Given the description of an element on the screen output the (x, y) to click on. 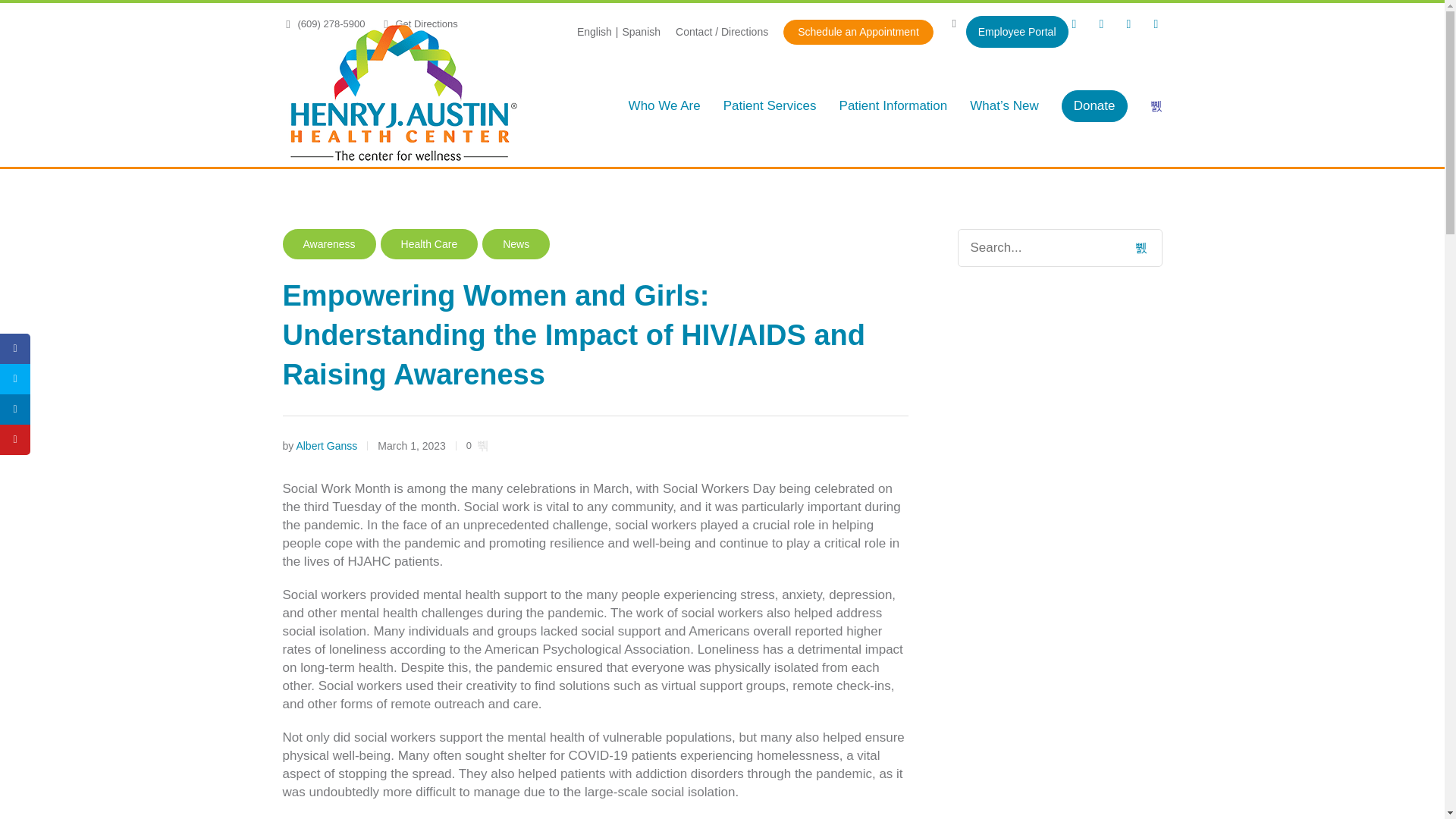
Henry J. Austin Health Center (403, 95)
Schedule an Appointment (858, 31)
Who We Are (664, 106)
Get Directions (418, 23)
English (593, 31)
Patient Services (769, 106)
Employee Portal (1008, 31)
Spanish (641, 31)
